Given the description of an element on the screen output the (x, y) to click on. 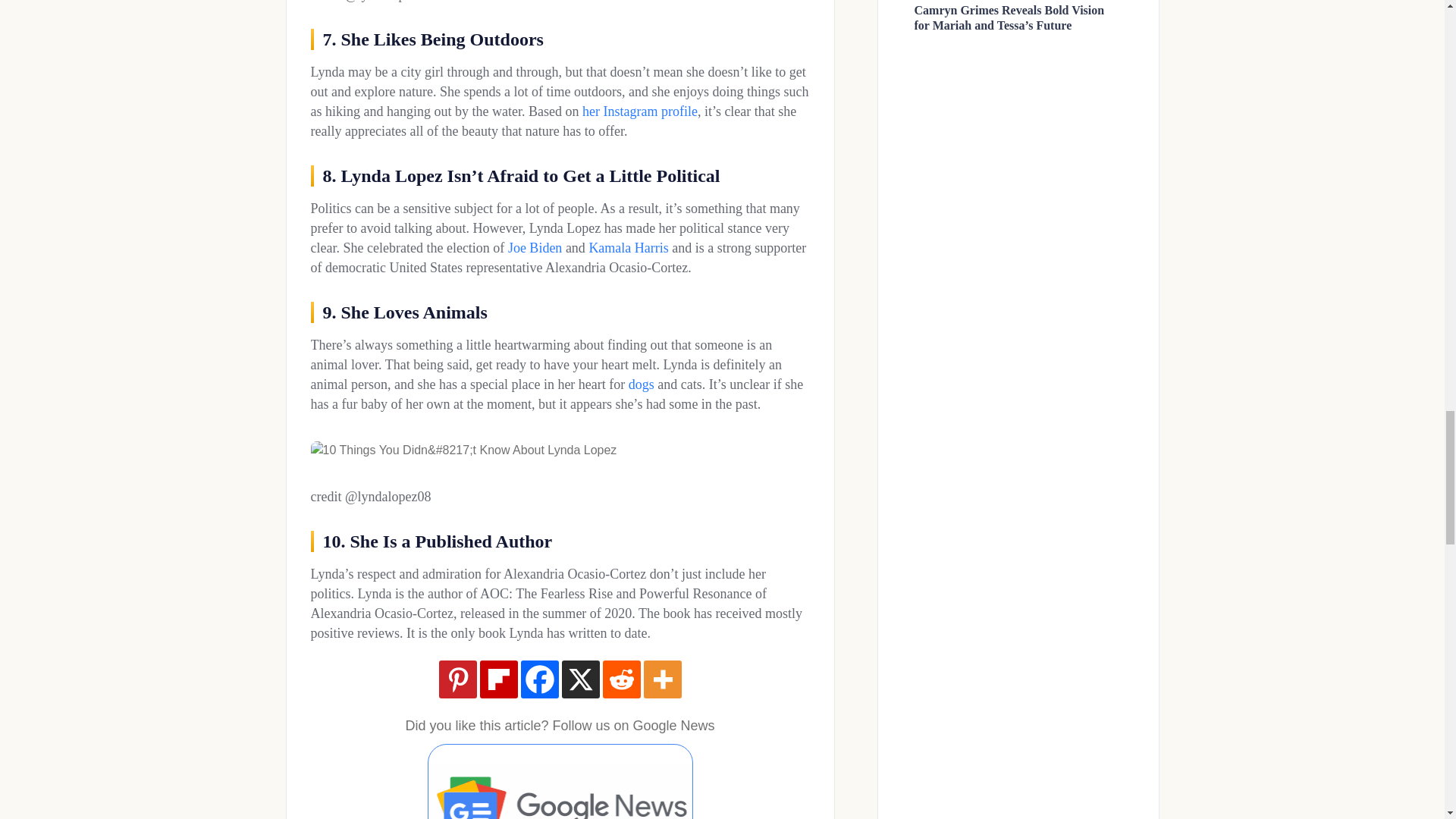
Flipboard (497, 679)
X (579, 679)
Facebook (538, 679)
More (662, 679)
Pinterest (457, 679)
Reddit (621, 679)
